Given the description of an element on the screen output the (x, y) to click on. 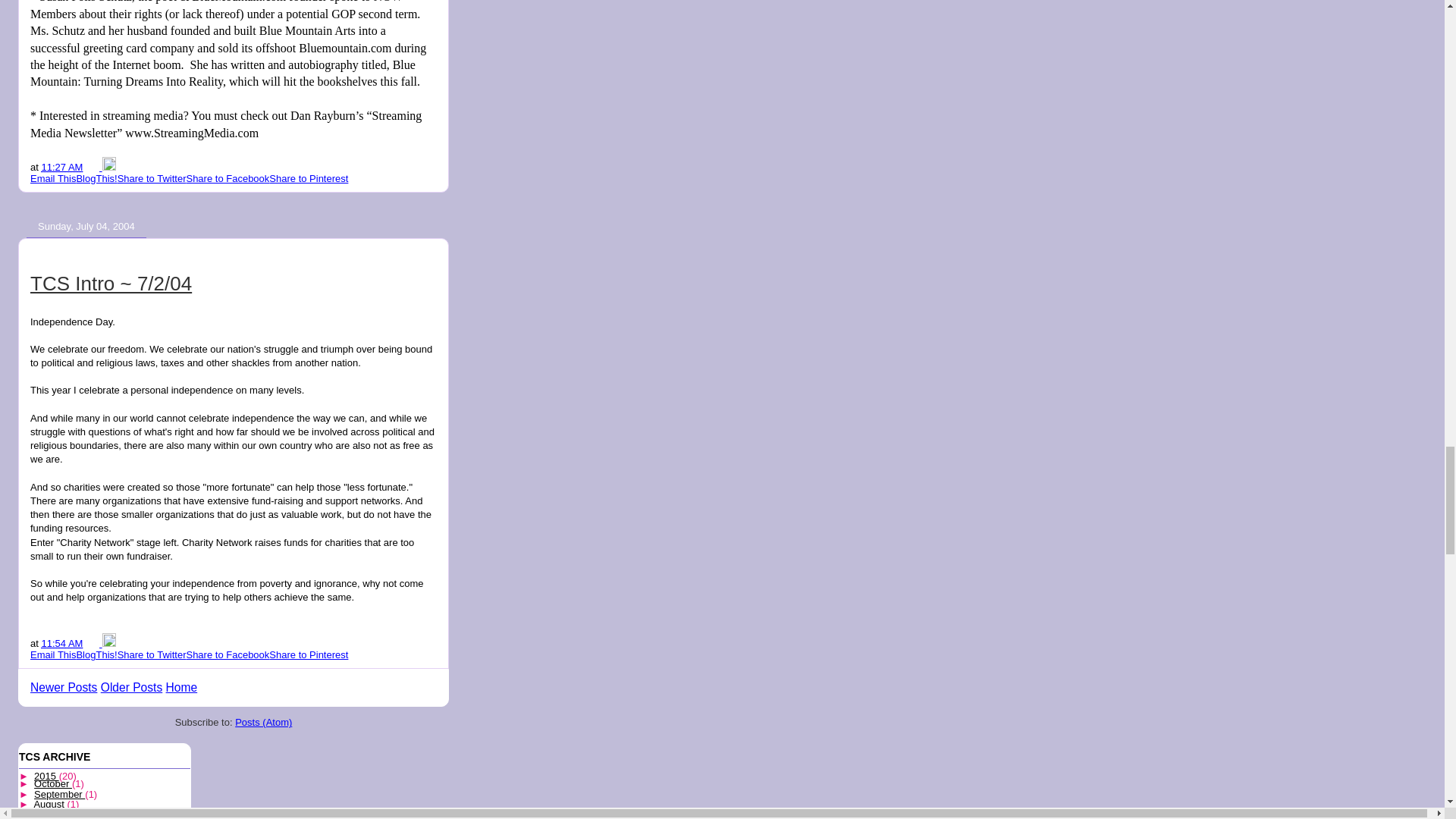
Share to Facebook (227, 178)
Email Post (93, 165)
BlogThis! (95, 654)
11:54 AM (61, 643)
Share to Pinterest (308, 178)
permanent link (61, 165)
Share to Facebook (227, 178)
Email This (52, 178)
Email This (52, 178)
Share to Twitter (151, 178)
Email This (52, 654)
BlogThis! (95, 178)
11:27 AM (61, 165)
Share to Twitter (151, 178)
Edit Post (108, 165)
